Given the description of an element on the screen output the (x, y) to click on. 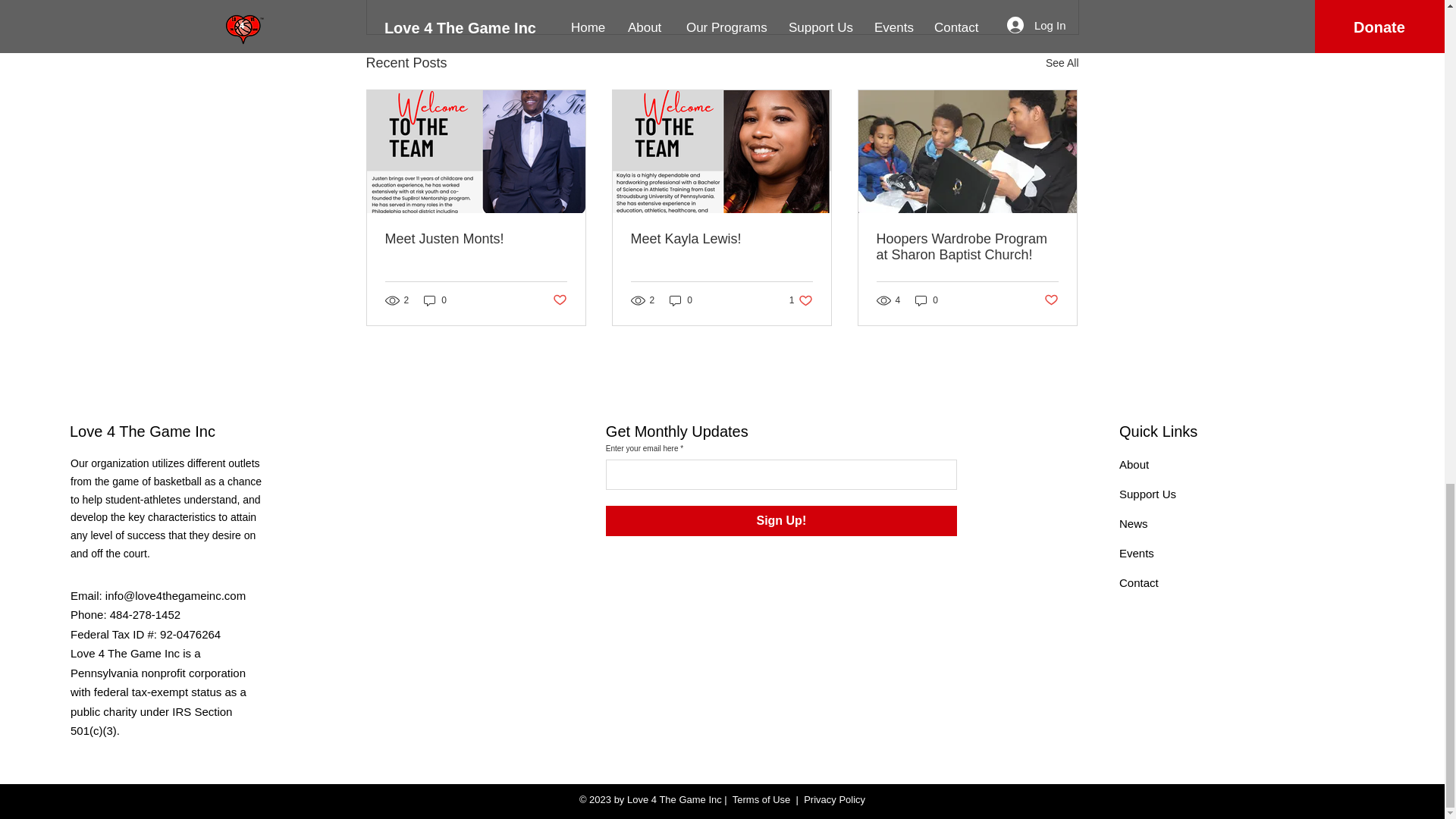
Meet Justen Monts! (476, 238)
Meet Kayla Lewis! (721, 238)
Hoopers Wardrobe Program at Sharon Baptist Church! (967, 246)
Support Us (1147, 493)
Contact (1138, 582)
0 (800, 299)
0 (435, 299)
About (681, 299)
See All (1133, 463)
